Given the description of an element on the screen output the (x, y) to click on. 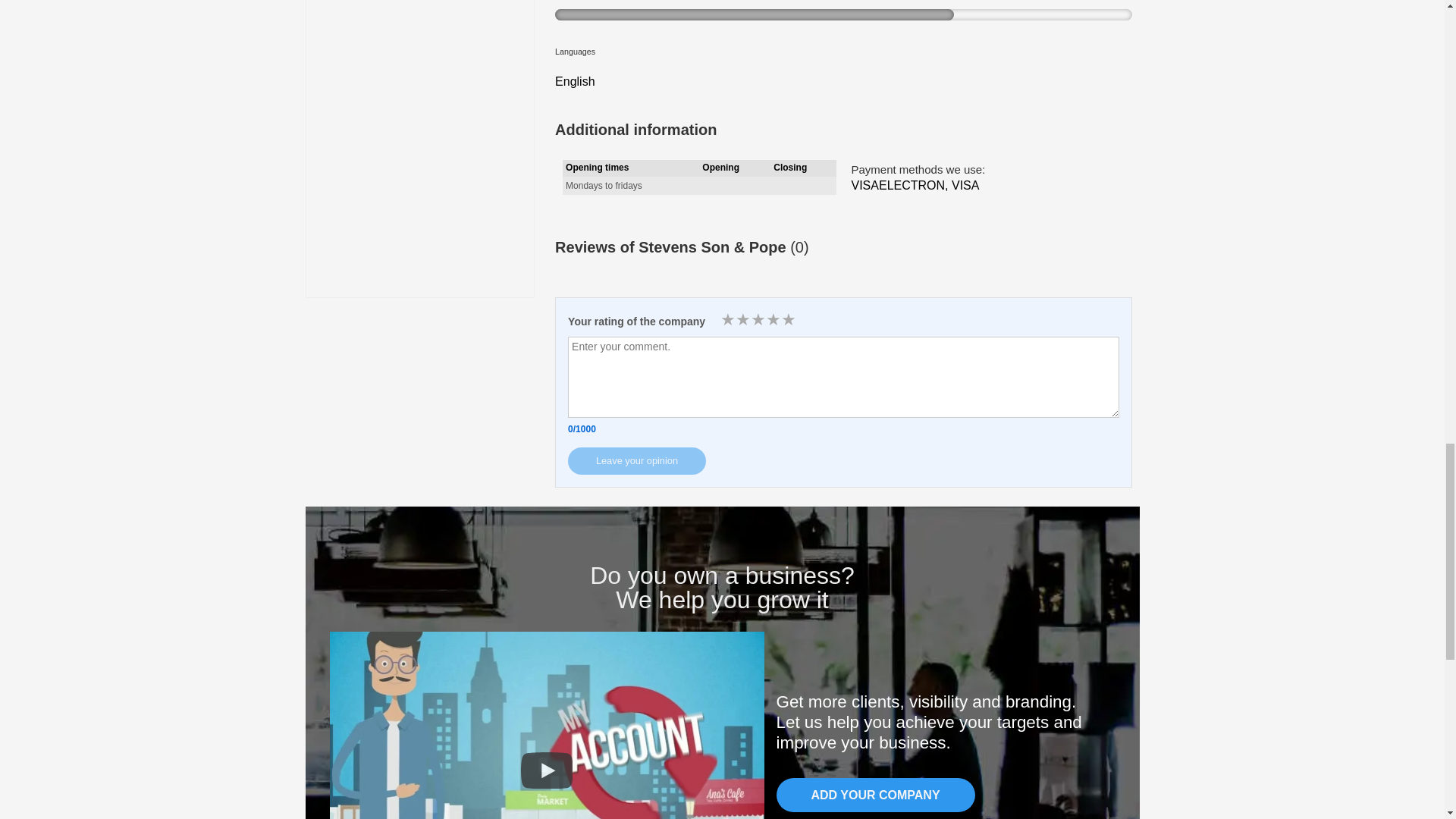
ADD YOUR COMPANY (875, 795)
Leave your opinion (636, 461)
infoisinfo video tutorial (545, 725)
